Given the description of an element on the screen output the (x, y) to click on. 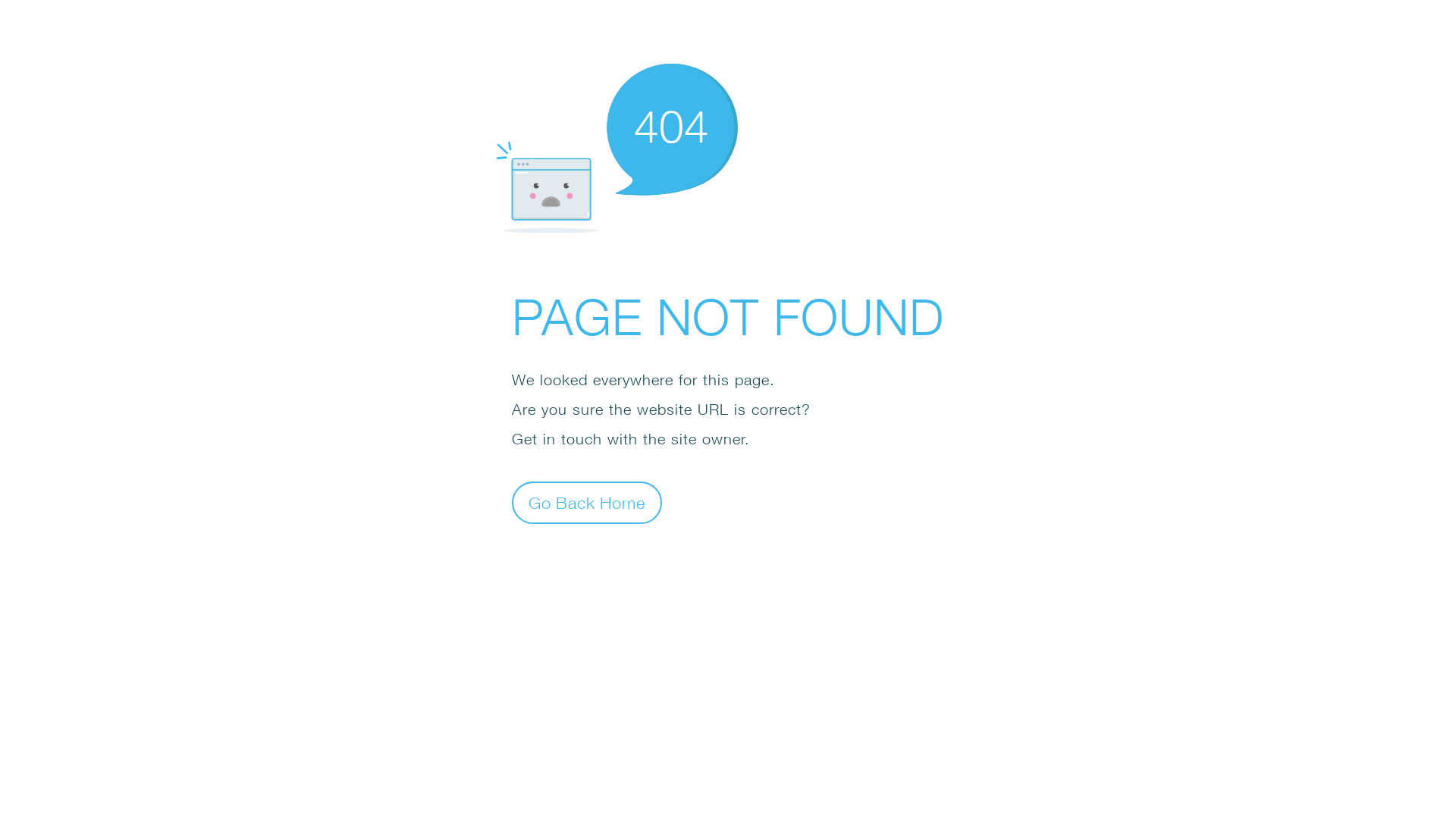
Go Back Home Element type: text (586, 502)
